Given the description of an element on the screen output the (x, y) to click on. 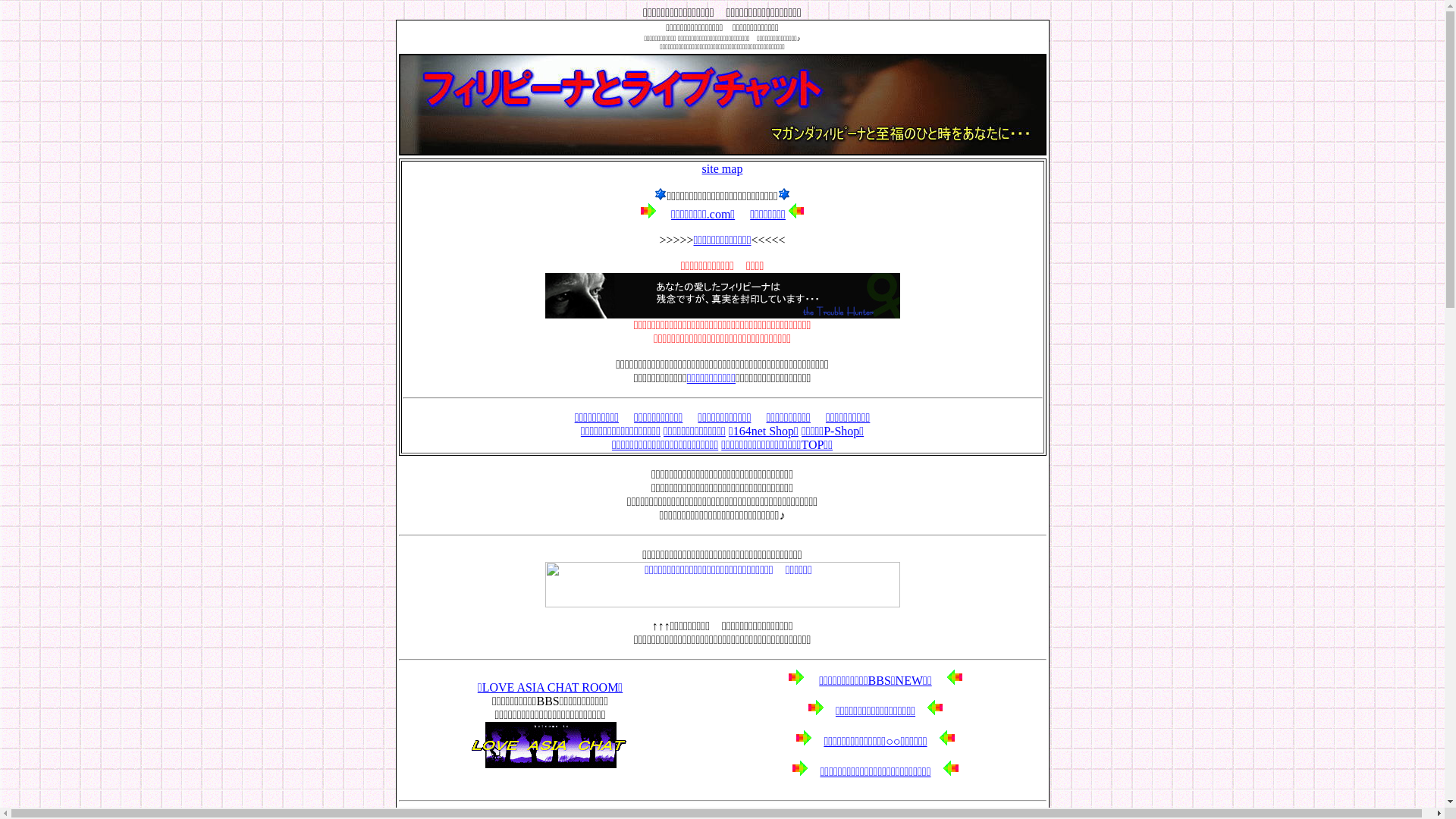
site map Element type: text (722, 168)
